Given the description of an element on the screen output the (x, y) to click on. 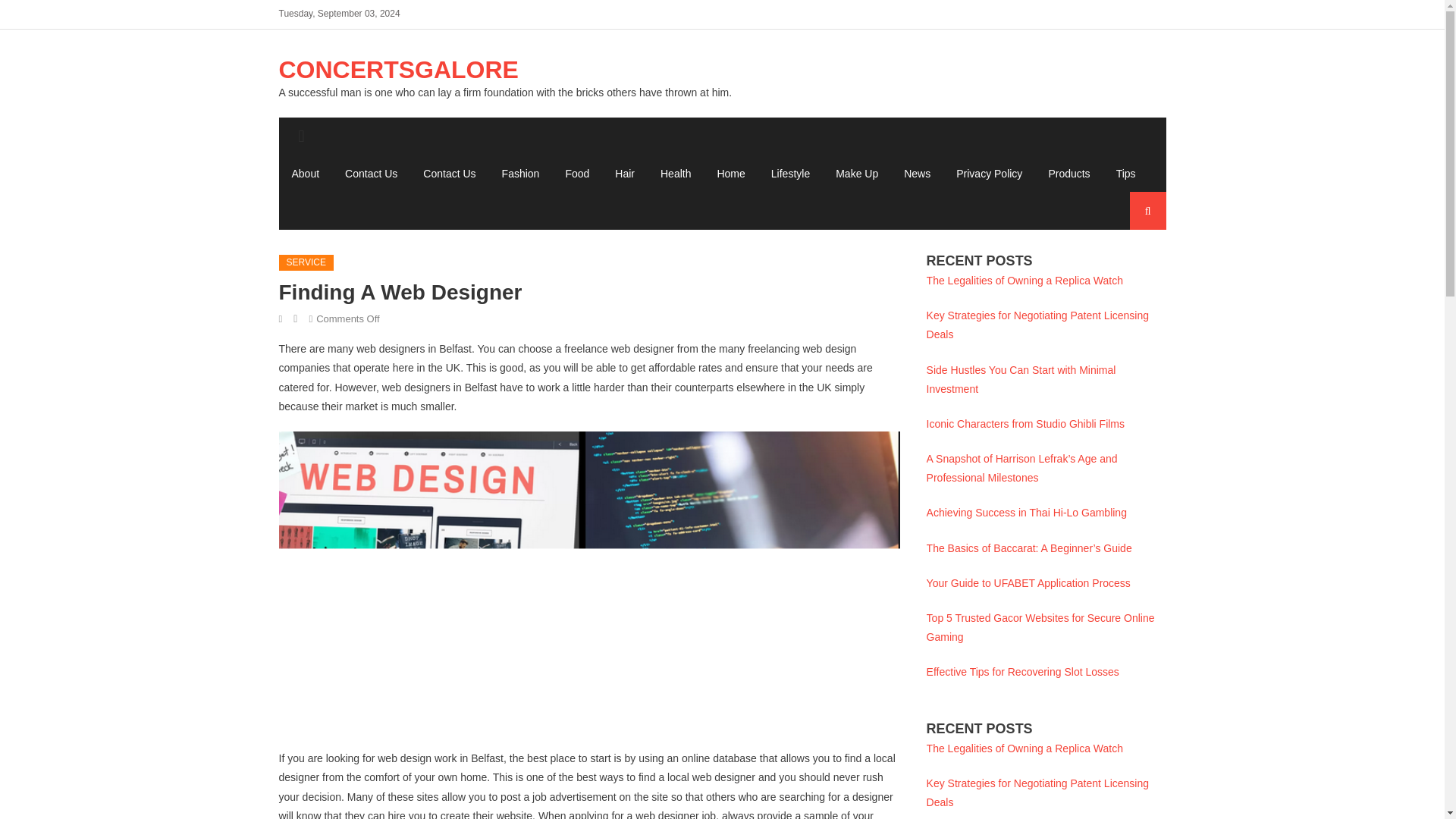
Tips (1126, 173)
Make Up (856, 173)
Fashion (520, 173)
Hair (625, 173)
Contact Us (449, 173)
Home (729, 173)
Lifestyle (790, 173)
CONCERTSGALORE (398, 69)
Contact Us (371, 173)
Search (1133, 267)
